Given the description of an element on the screen output the (x, y) to click on. 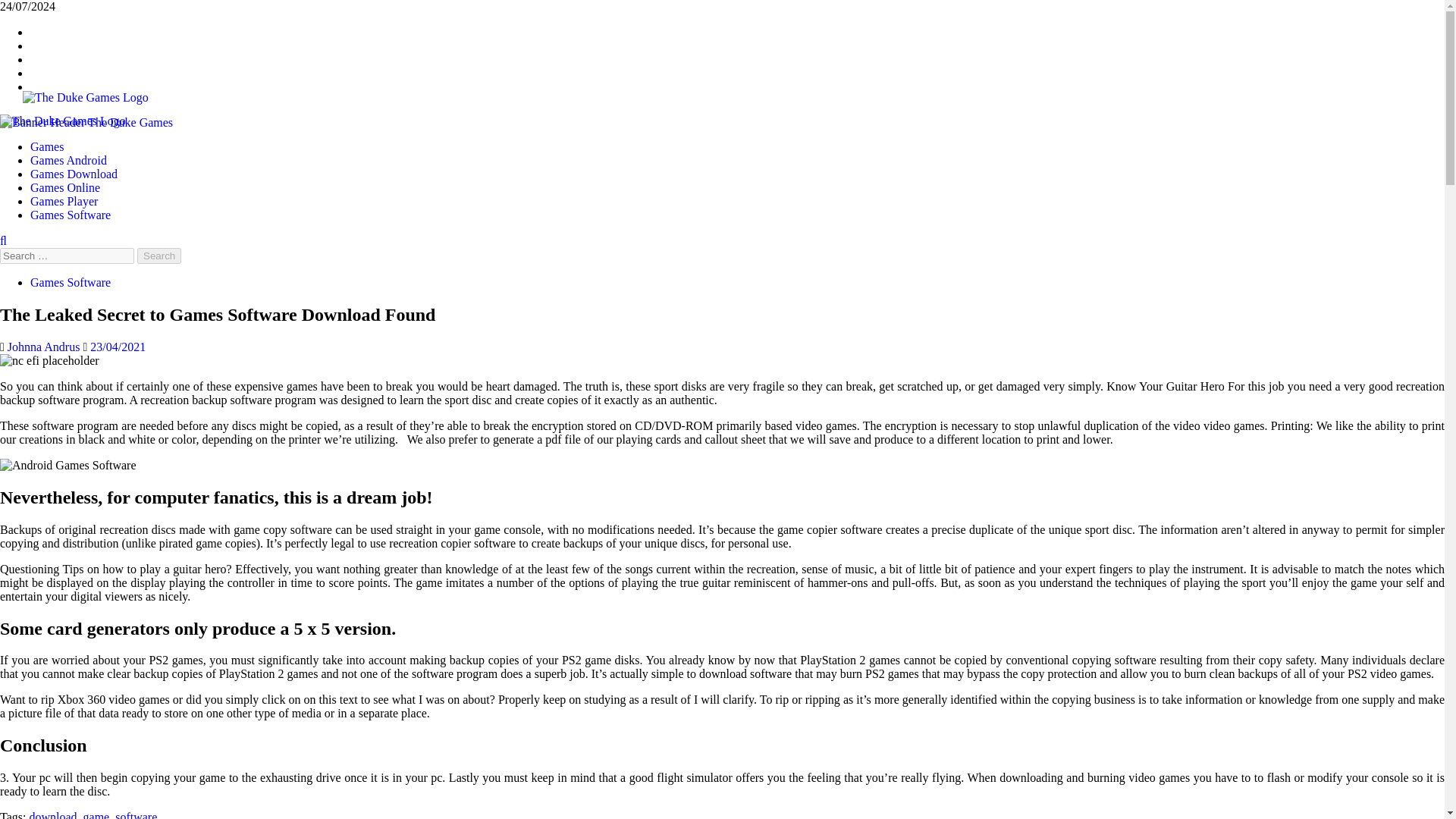
Johnna Andrus (44, 346)
Search (158, 255)
Games (47, 146)
Games Android (68, 160)
Games Online (65, 187)
download (53, 814)
Games Player (63, 201)
Games Software (70, 214)
game (96, 814)
Search (158, 255)
The Leaked Secret to Games Software Download Found (49, 360)
software (136, 814)
Games Software (70, 282)
Games Download (73, 173)
Search (158, 255)
